Given the description of an element on the screen output the (x, y) to click on. 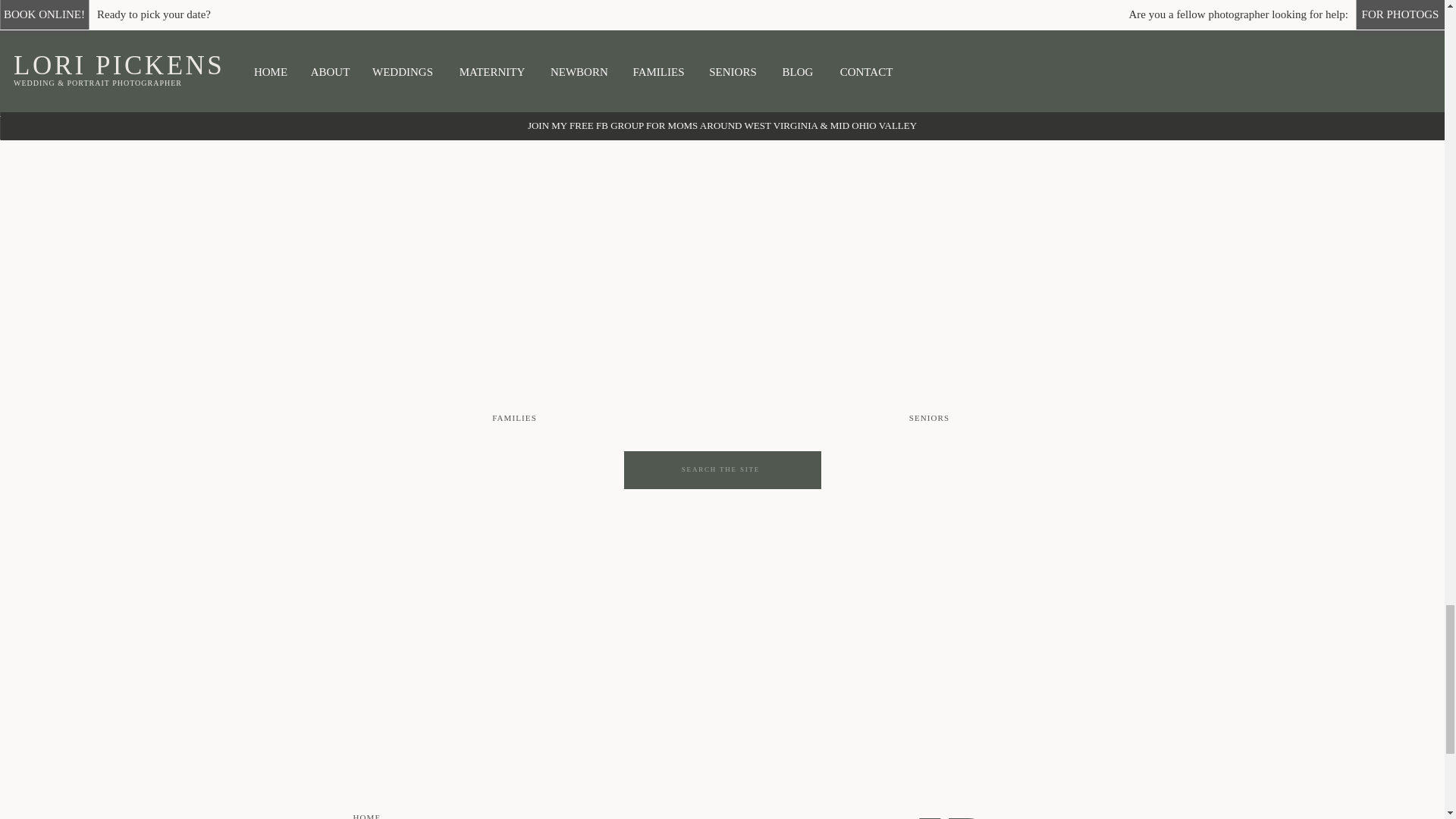
SENIORS (928, 419)
